Given the description of an element on the screen output the (x, y) to click on. 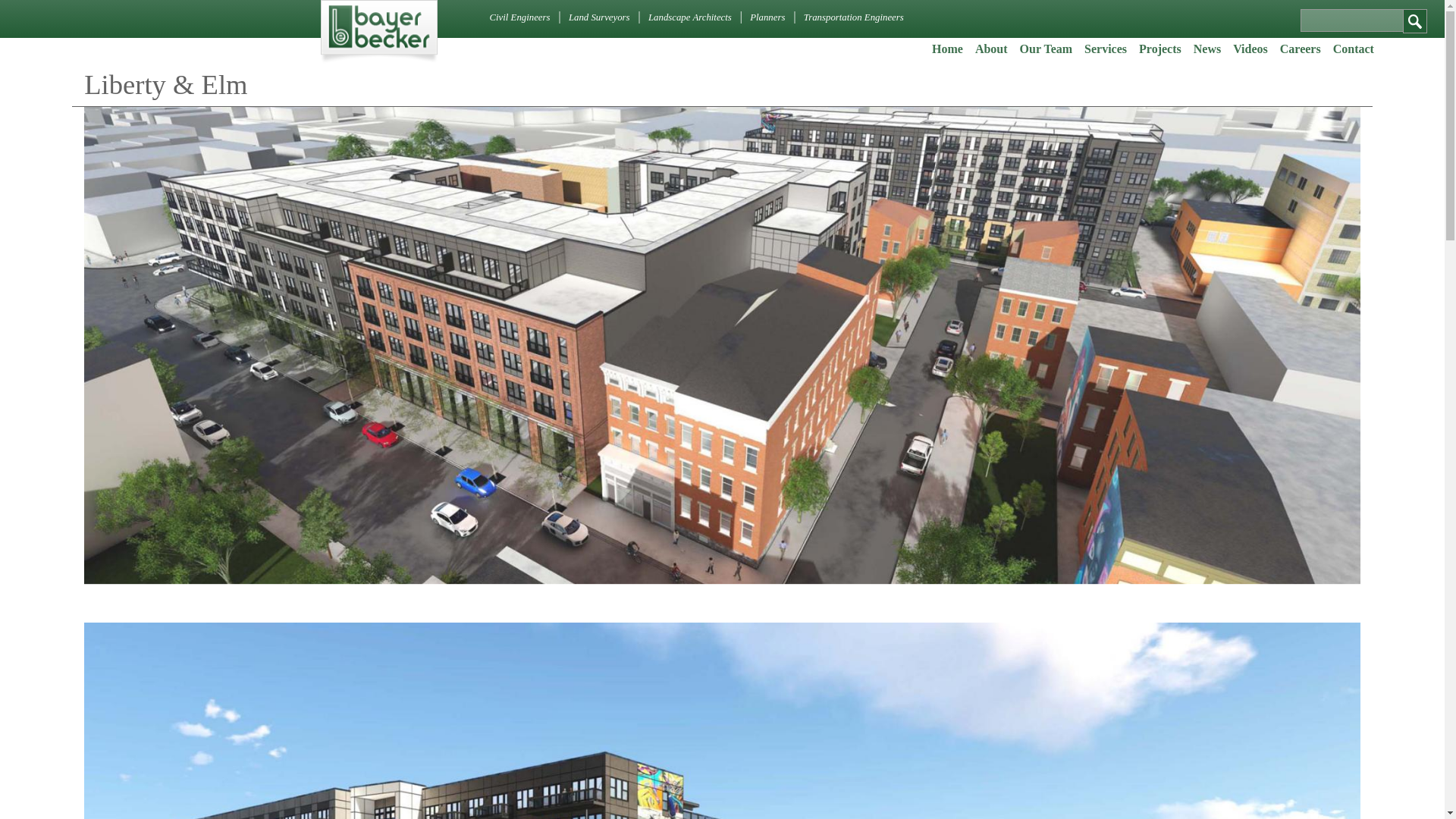
Search (1414, 21)
Contact (1353, 48)
Our Team (1046, 48)
Planners (766, 17)
Landscape Architects (689, 17)
Videos (1250, 48)
Civil Engineers (519, 17)
Careers (1299, 48)
Services (1105, 48)
